Given the description of an element on the screen output the (x, y) to click on. 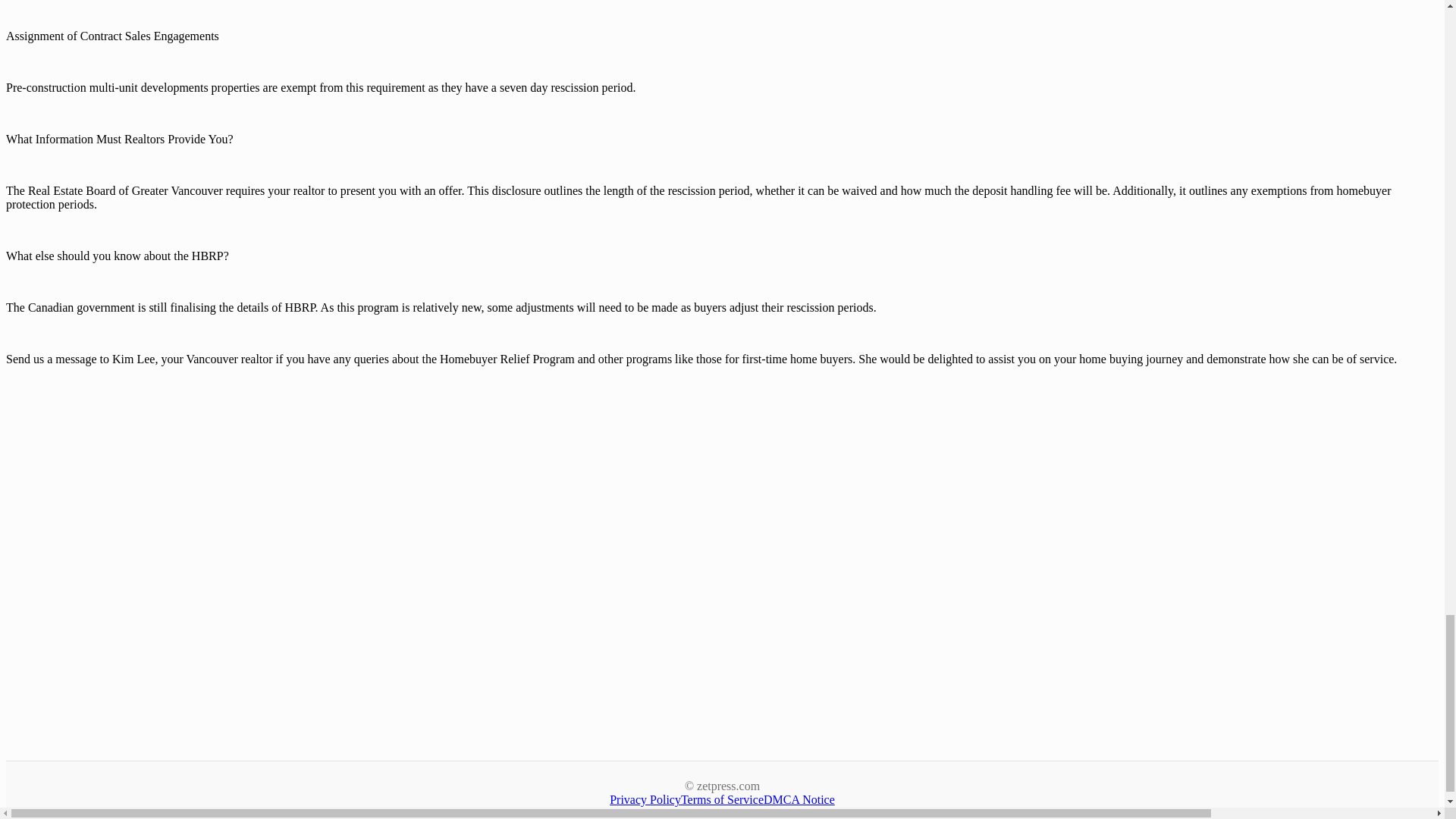
Terms of Service (721, 799)
DMCA Notice (798, 799)
Privacy Policy (645, 799)
